Given the description of an element on the screen output the (x, y) to click on. 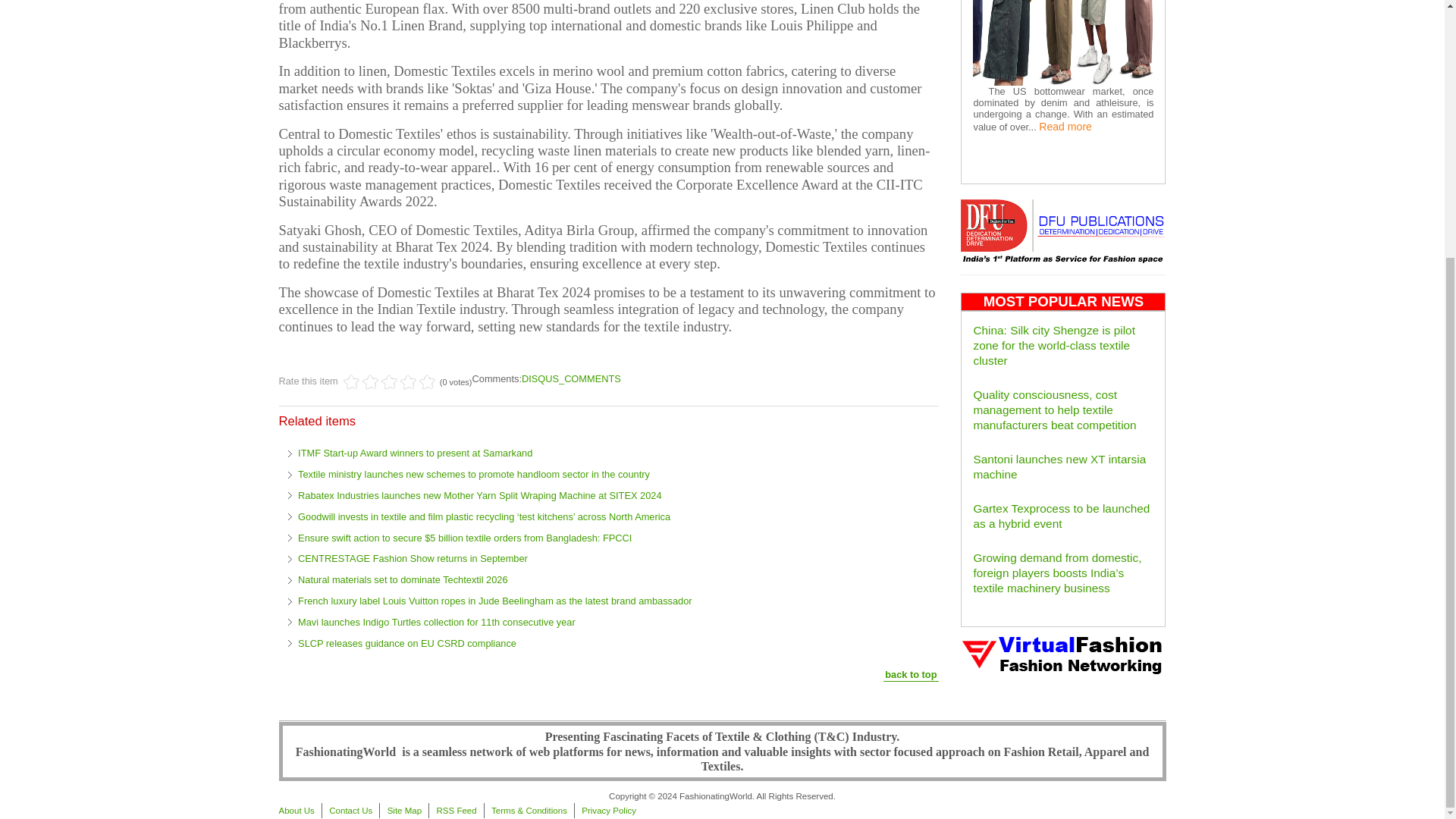
5 stars out of 5 (389, 382)
3 (370, 382)
2 stars out of 5 (361, 382)
2 (361, 382)
3 stars out of 5 (370, 382)
1 star out of 5 (351, 382)
4 stars out of 5 (379, 382)
1 (351, 382)
